Given the description of an element on the screen output the (x, y) to click on. 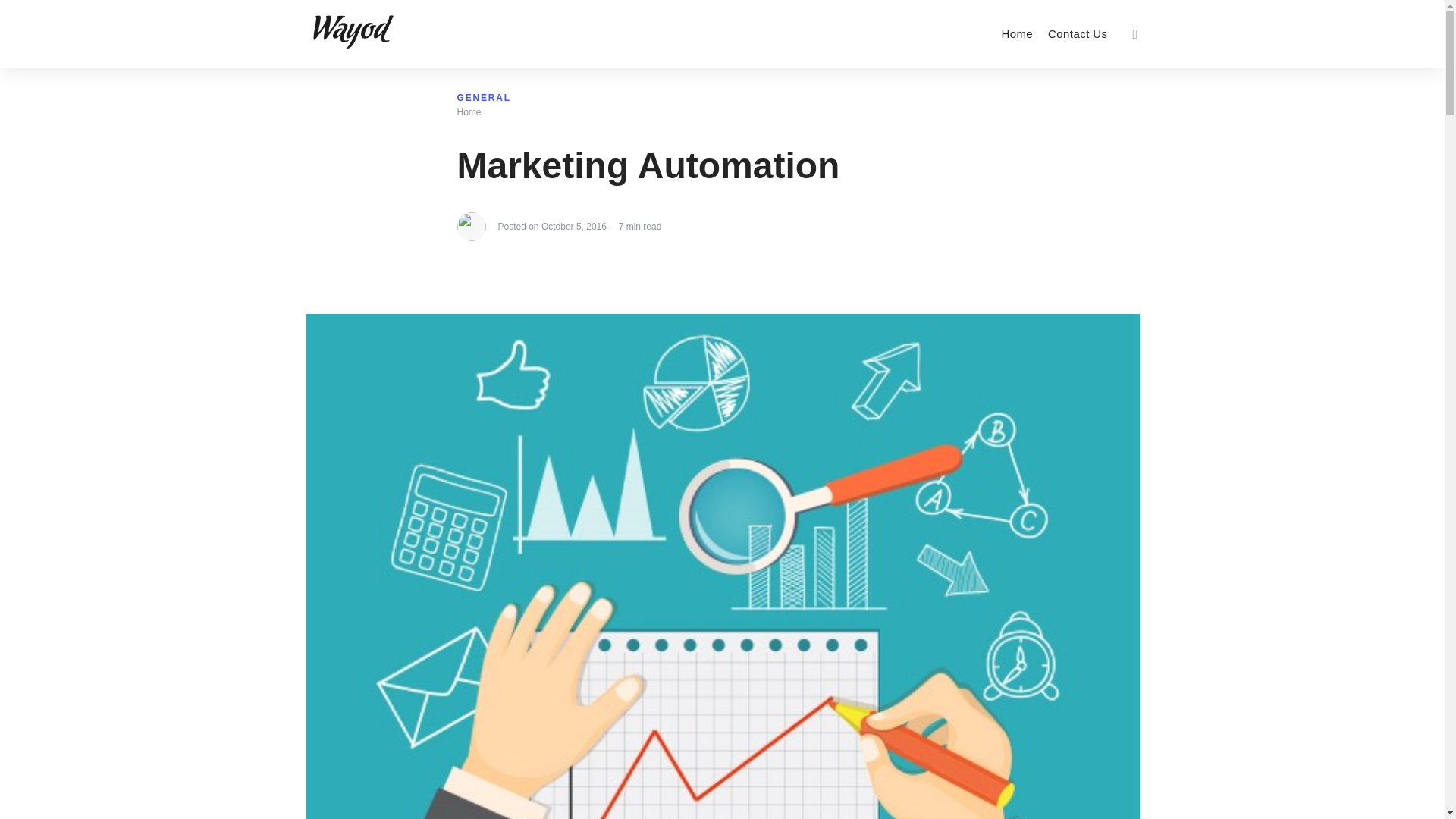
Contact Us (1078, 33)
October 5, 2016 (574, 240)
Home (1016, 33)
Wayod (468, 112)
GENERAL (484, 86)
Home (468, 100)
Home (1016, 33)
Contact Us (1078, 33)
